Given the description of an element on the screen output the (x, y) to click on. 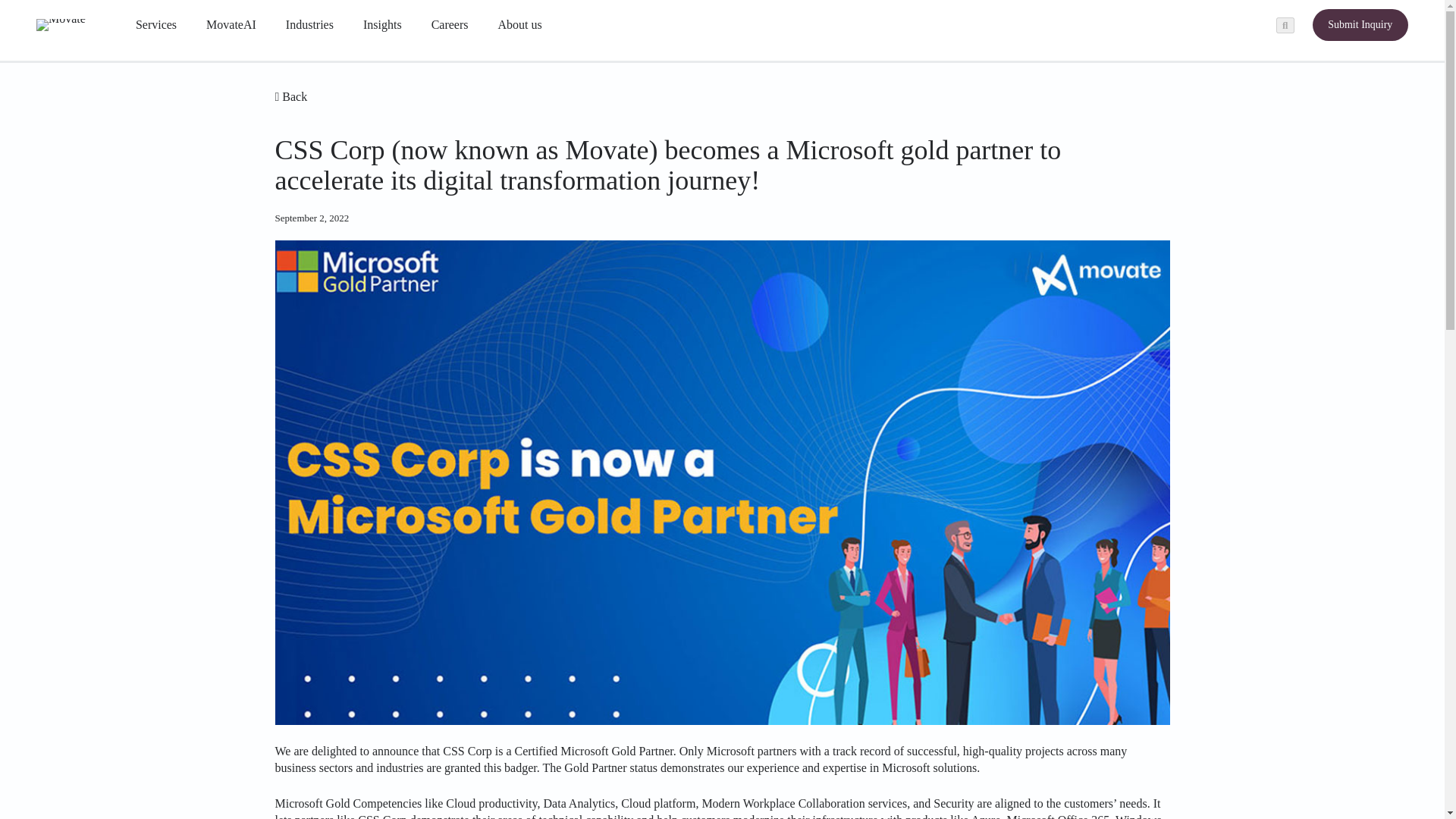
Insights (384, 24)
Industries (312, 24)
MovateAI (230, 24)
Services (158, 24)
